Given the description of an element on the screen output the (x, y) to click on. 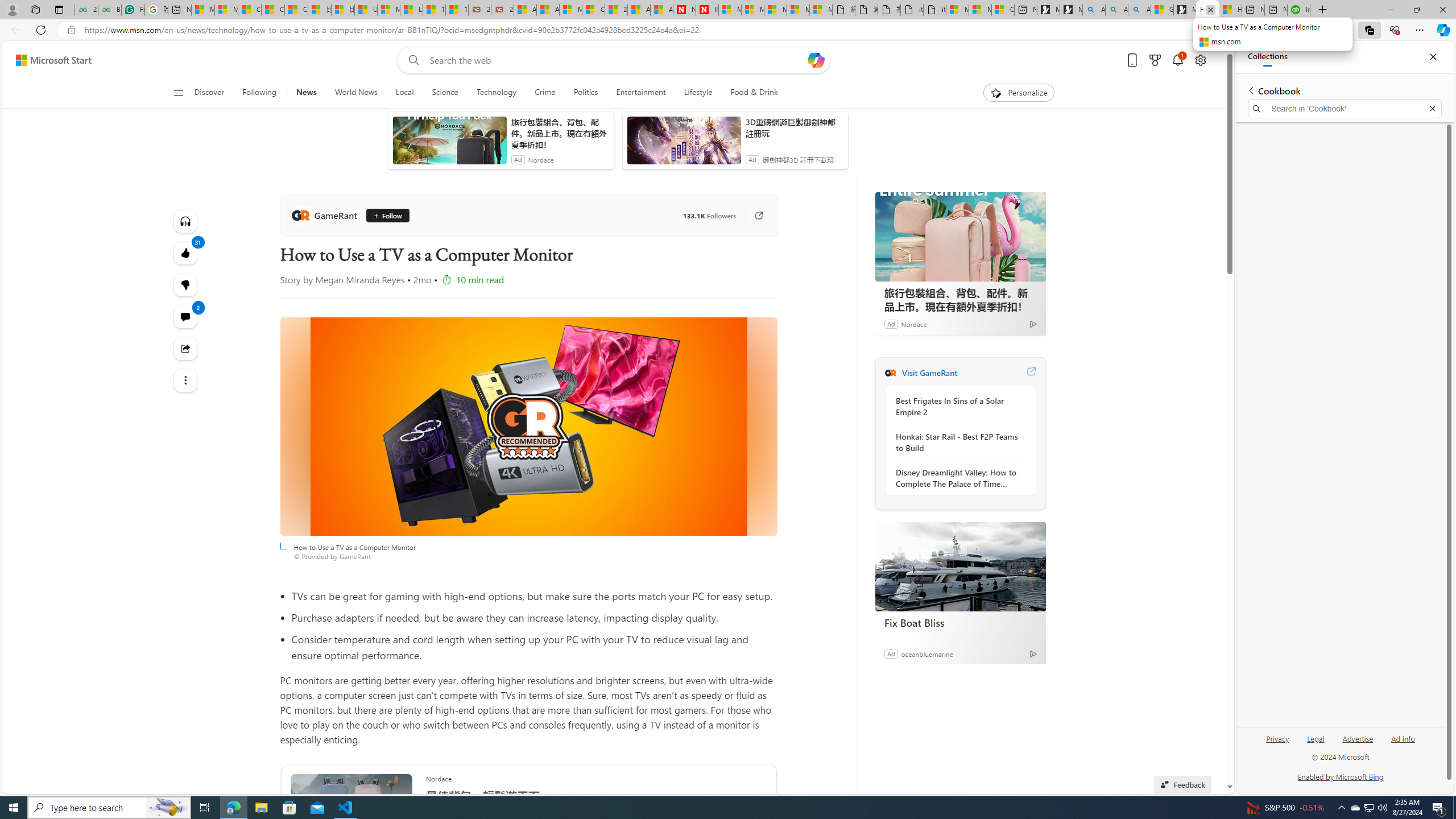
Newsweek - News, Analysis, Politics, Business, Technology (684, 9)
Fix Boat Bliss (960, 566)
Food & Drink (753, 92)
Enter Immersive Reader (F9) (1291, 29)
Visit GameRant website (1031, 372)
Entertainment (641, 92)
21 Movies That Outdid the Books They Were Based On (502, 9)
